Given the description of an element on the screen output the (x, y) to click on. 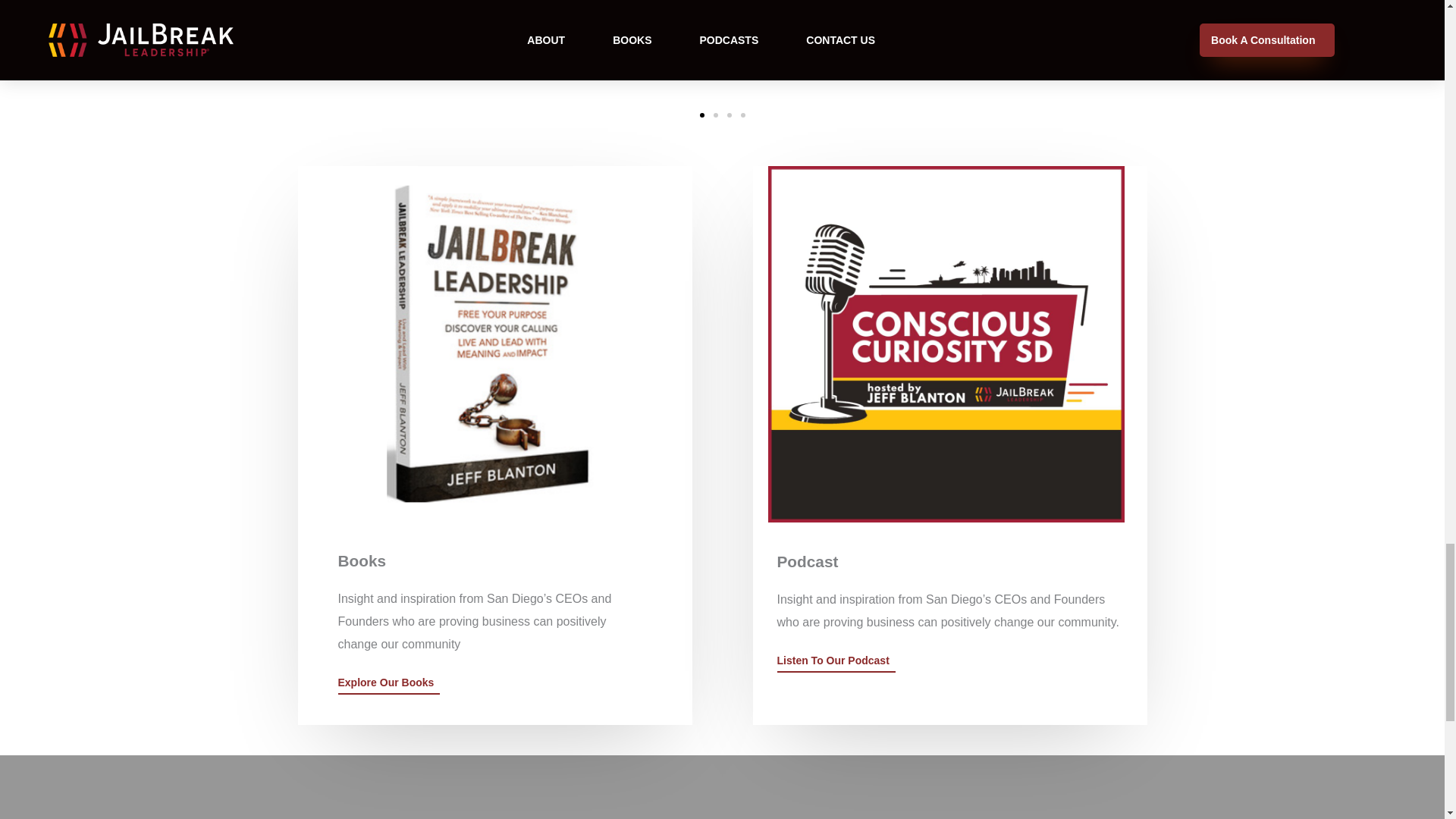
Listen To Our Podcast (835, 663)
Explore Our Books (389, 685)
